Given the description of an element on the screen output the (x, y) to click on. 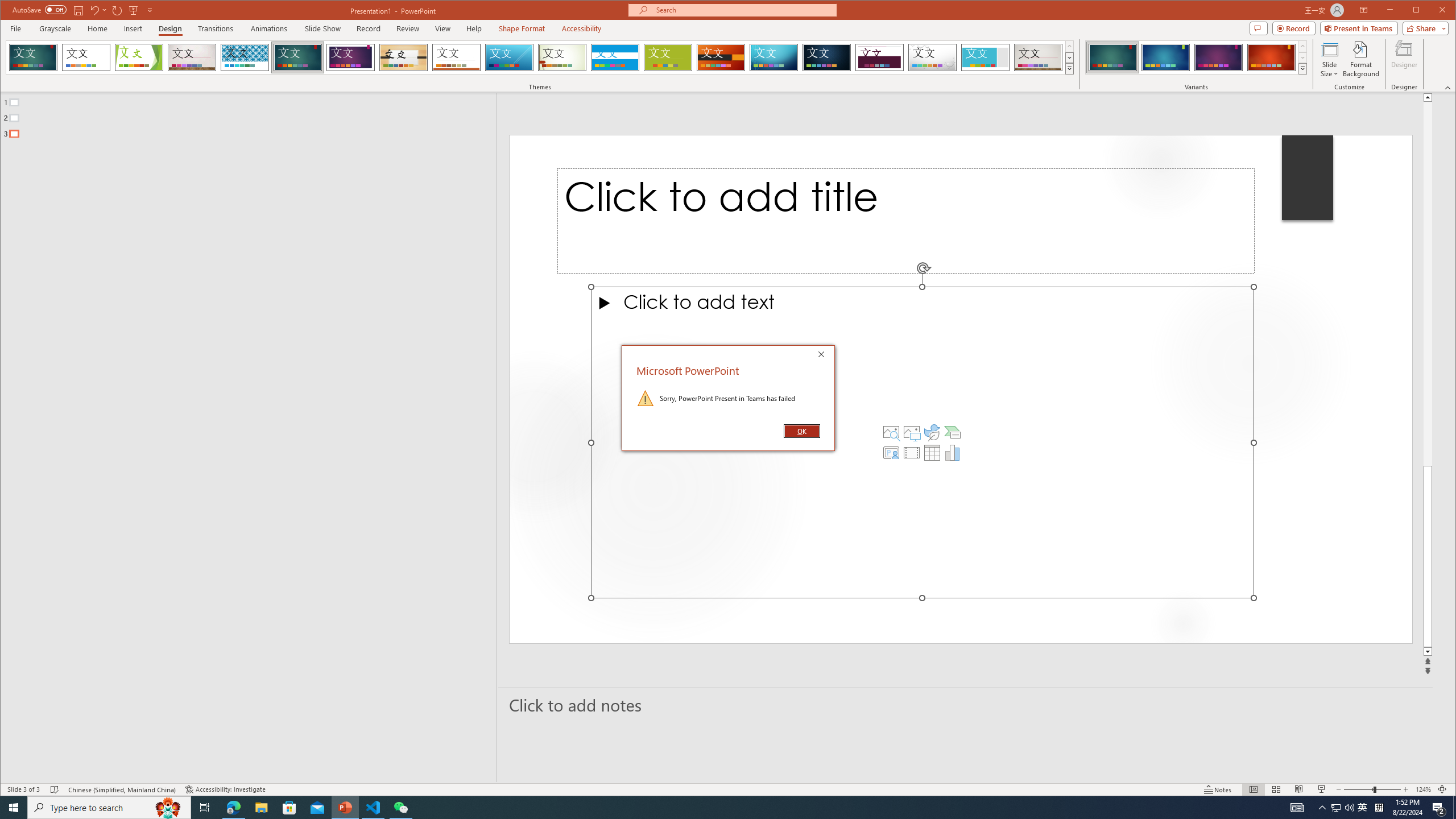
Ion Variant 1 (1112, 57)
Ion Variant 3 (1218, 57)
Format Background (1360, 59)
Stock Images (890, 432)
Zoom 124% (1422, 789)
Microsoft Store (289, 807)
Search highlights icon opens search home window (1335, 807)
Frame (167, 807)
Type here to search (985, 57)
Insert Chart (108, 807)
